Given the description of an element on the screen output the (x, y) to click on. 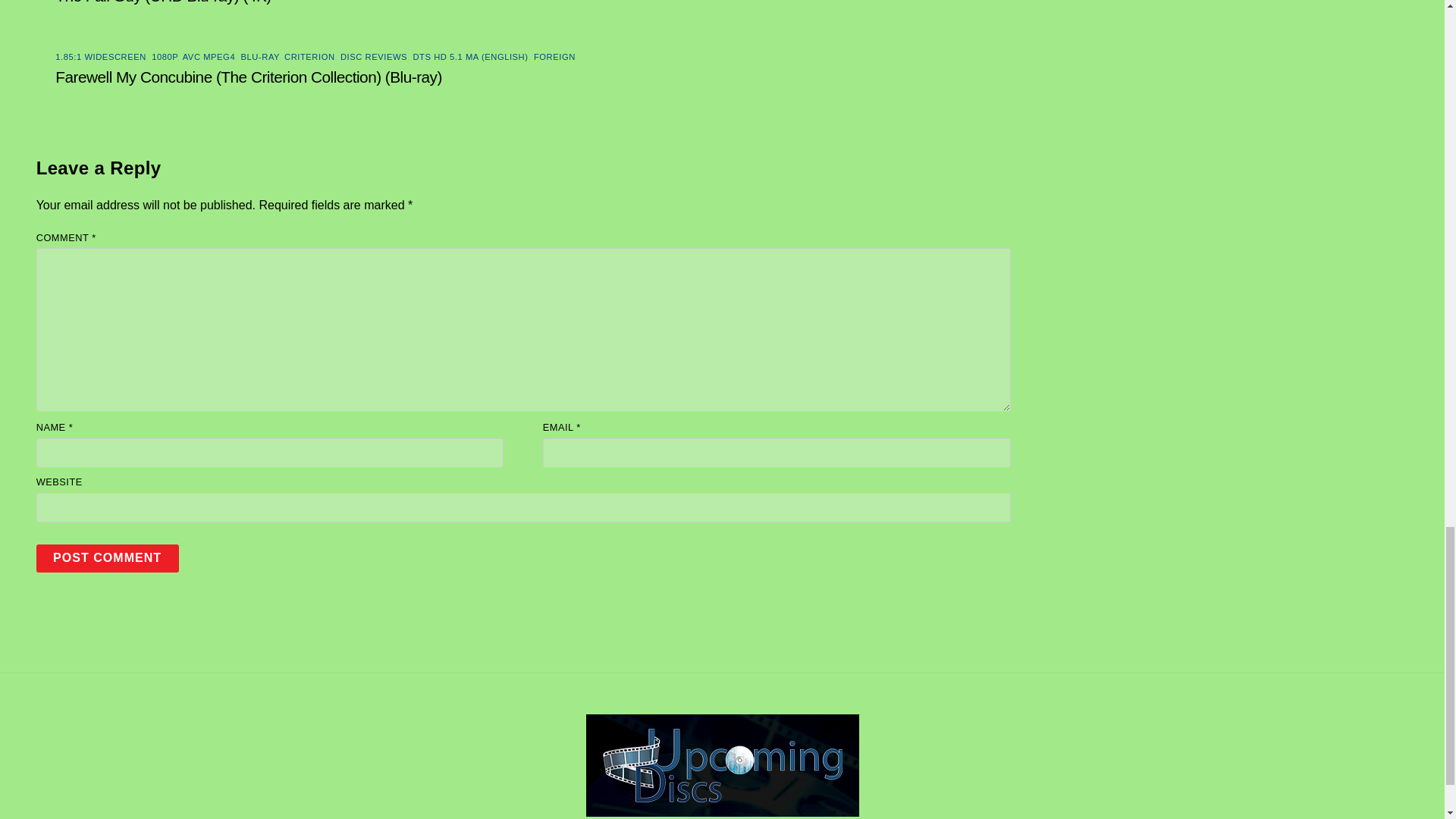
UpcomingDiscs.com (722, 809)
DISC REVIEWS (373, 56)
BLU-RAY (260, 56)
CRITERION (308, 56)
Post Comment (107, 558)
AVC MPEG4 (209, 56)
1080P (164, 56)
1.85:1 WIDESCREEN (101, 56)
